Given the description of an element on the screen output the (x, y) to click on. 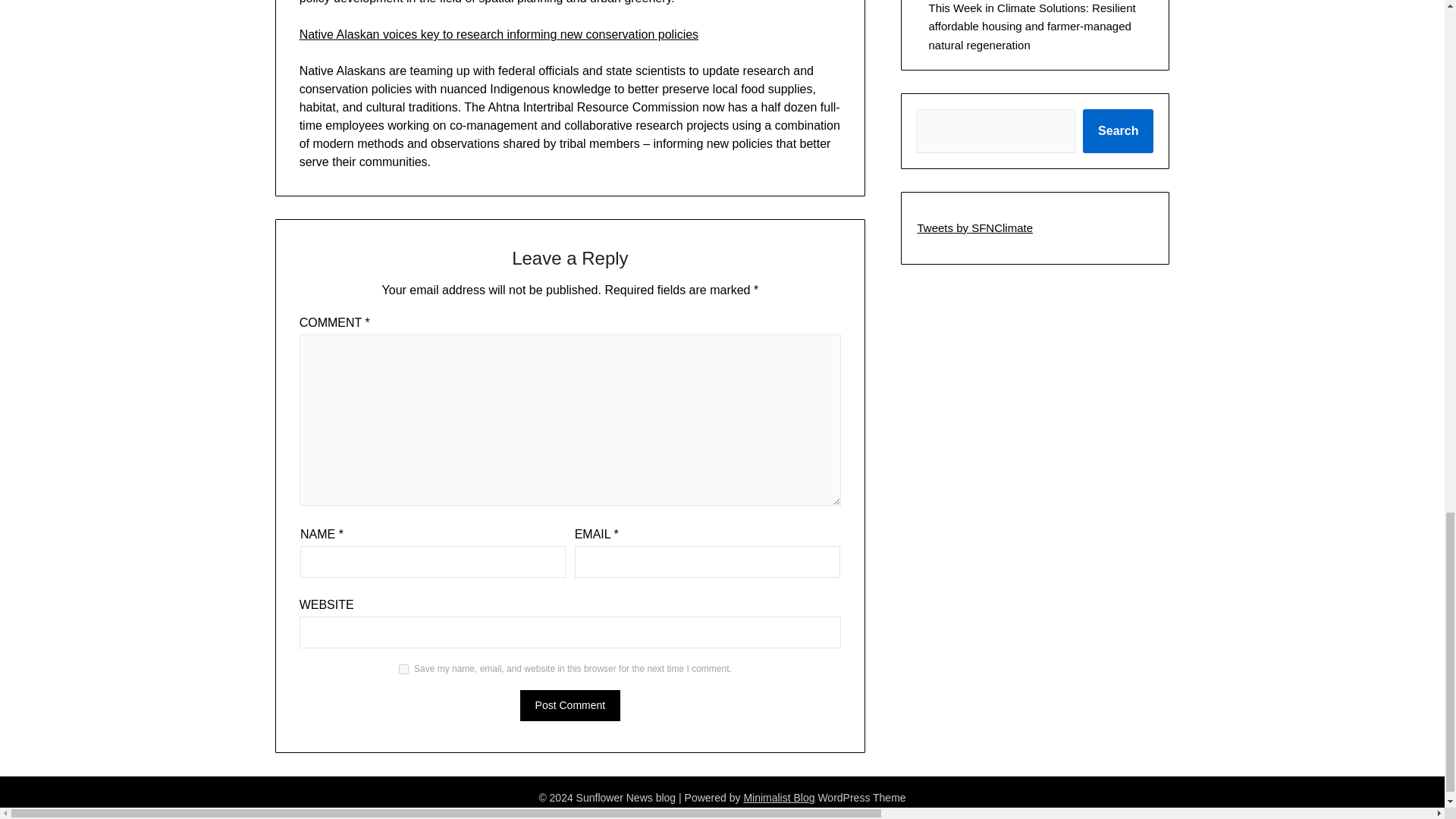
yes (403, 669)
Post Comment (570, 705)
Post Comment (570, 705)
